Given the description of an element on the screen output the (x, y) to click on. 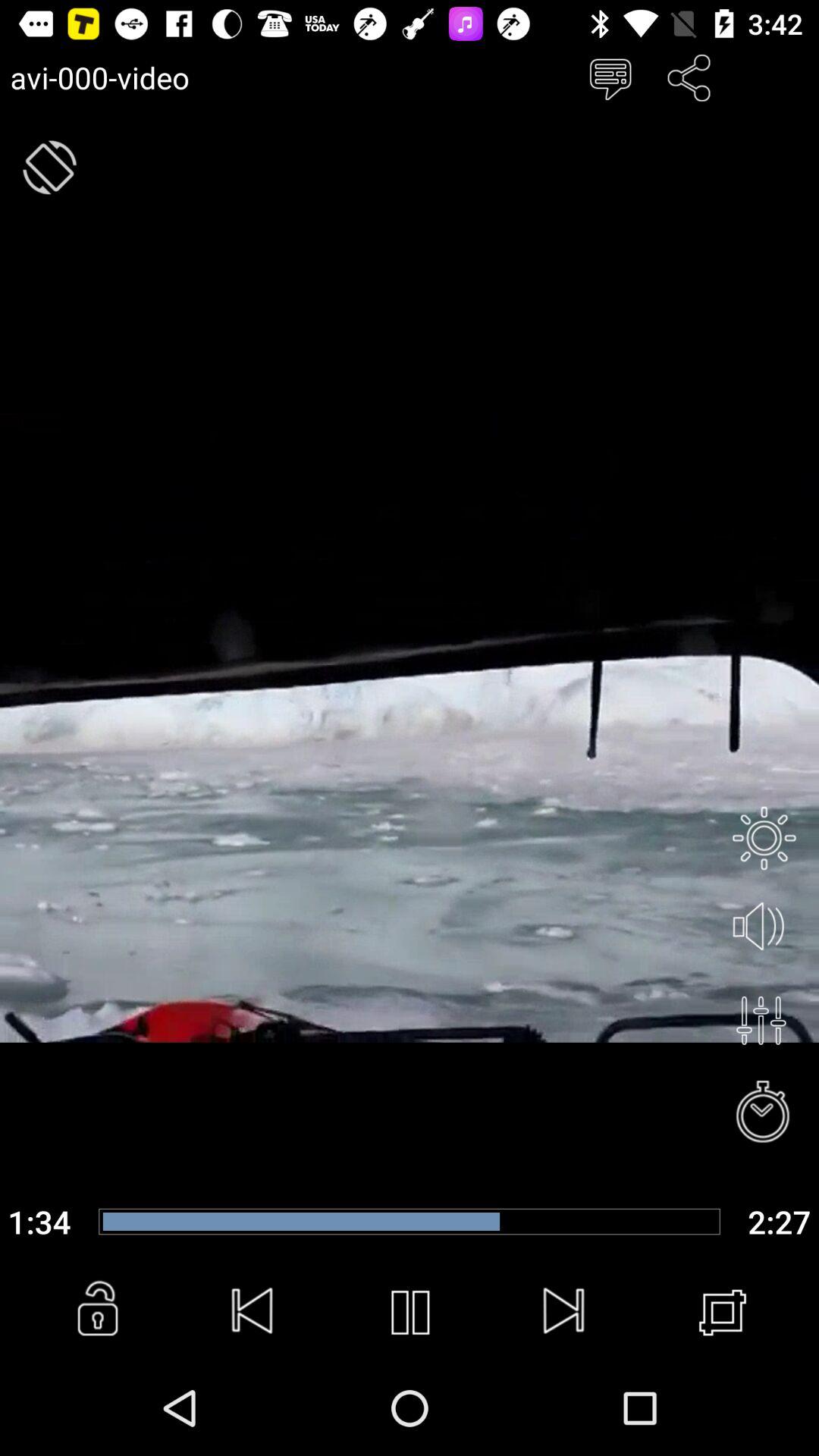
share option (689, 77)
